Given the description of an element on the screen output the (x, y) to click on. 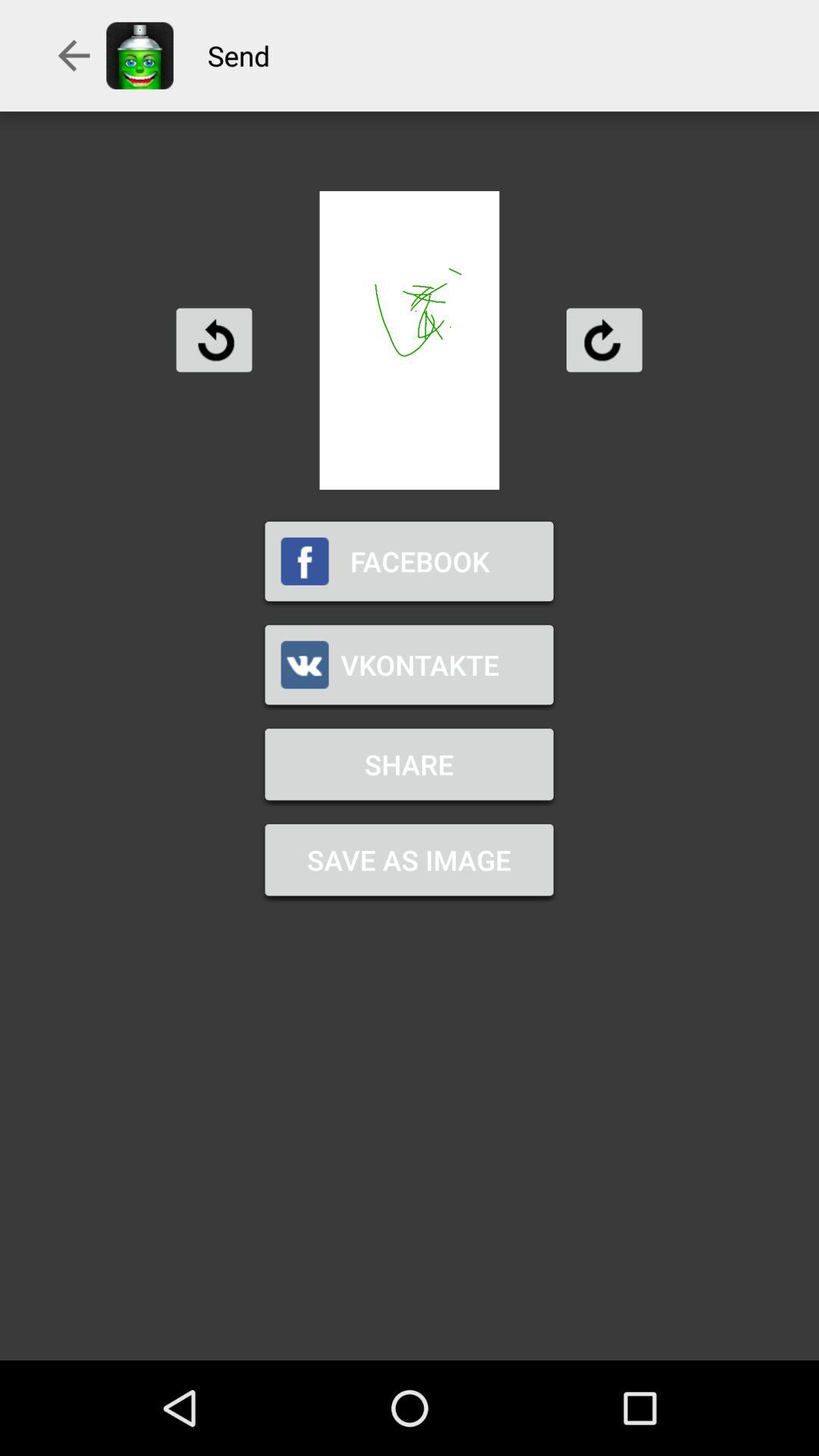
redo last action (604, 339)
